Given the description of an element on the screen output the (x, y) to click on. 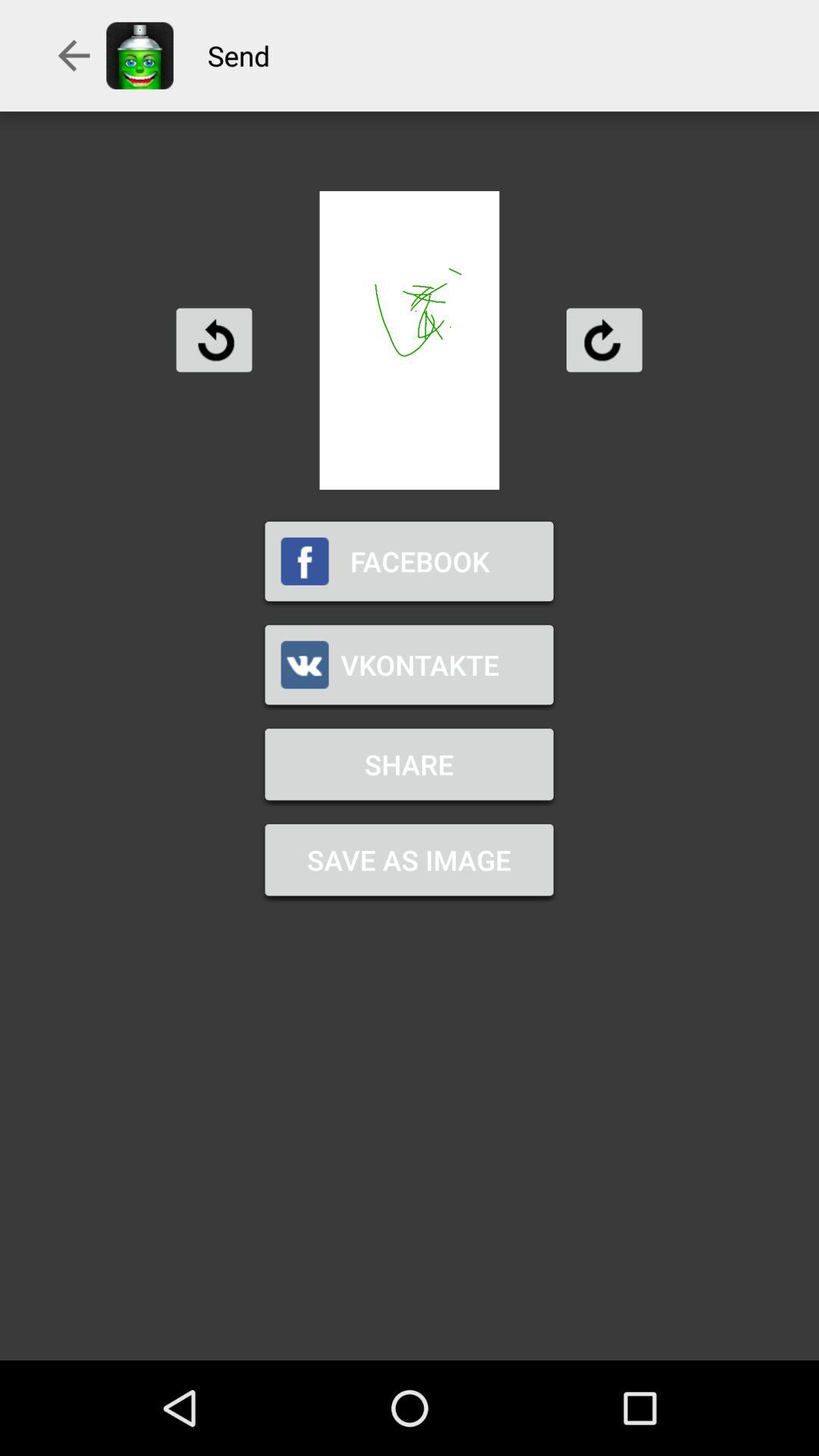
redo last action (604, 339)
